Given the description of an element on the screen output the (x, y) to click on. 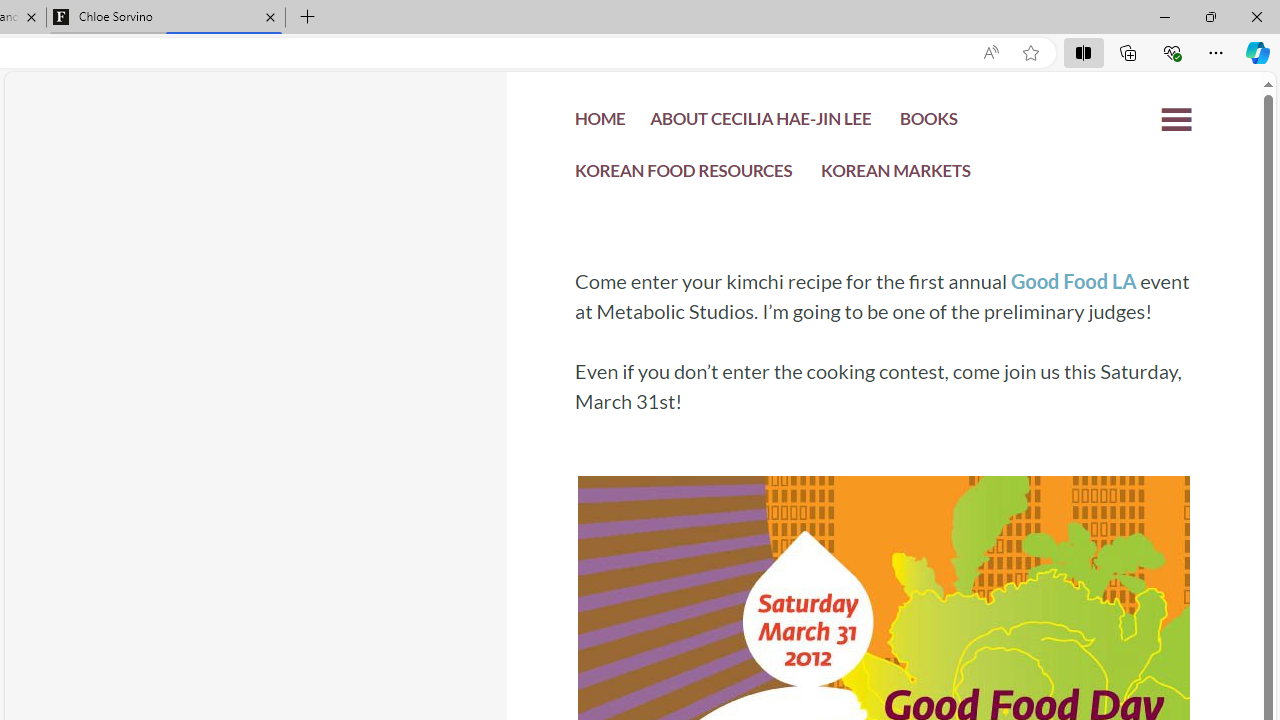
ABOUT CECILIA HAE-JIN LEE (760, 121)
ABOUT CECILIA HAE-JIN LEE (760, 124)
KOREAN FOOD RESOURCES (683, 175)
Chloe Sorvino (166, 17)
